Given the description of an element on the screen output the (x, y) to click on. 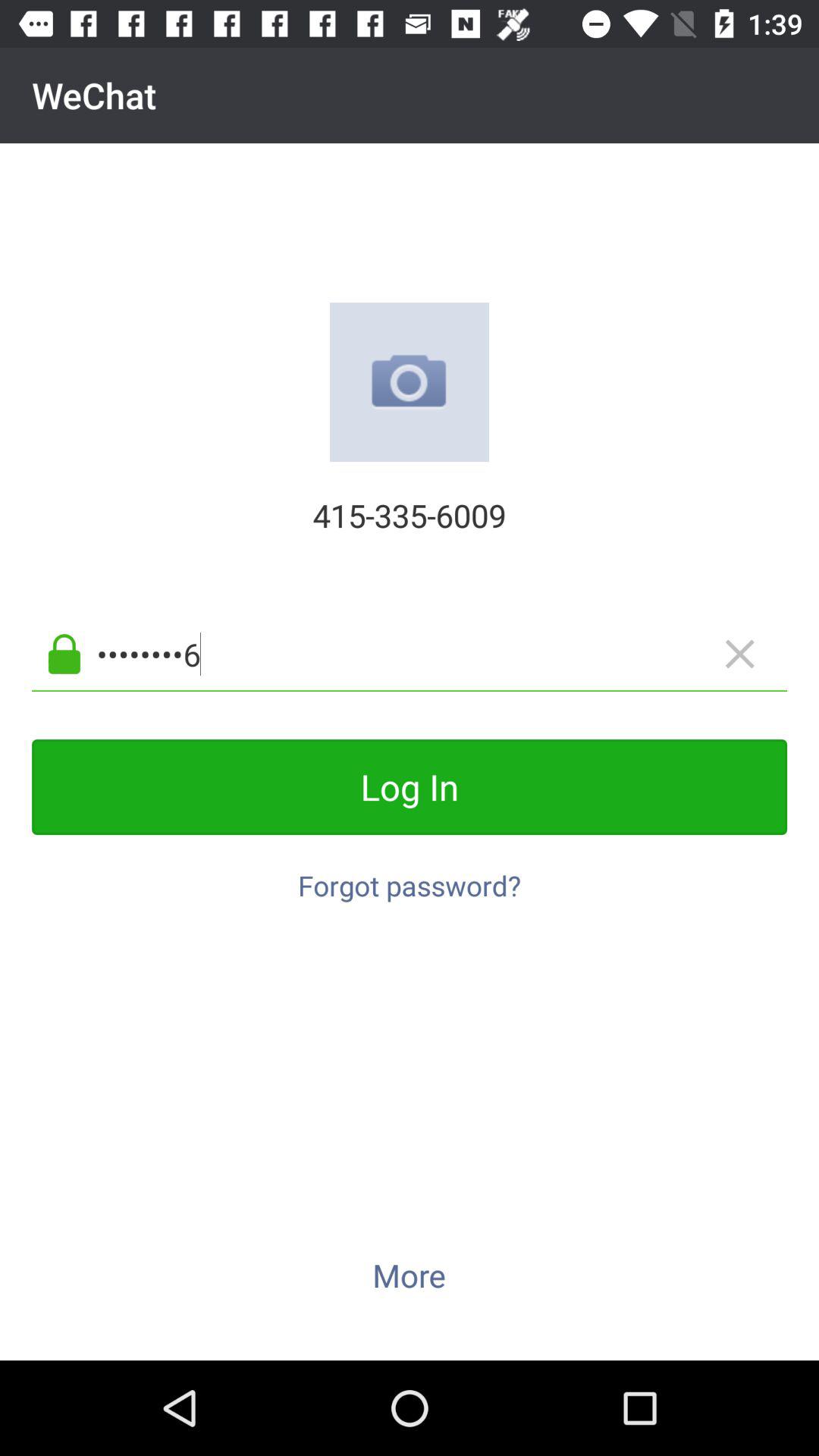
jump to the crowd3116 icon (433, 653)
